Given the description of an element on the screen output the (x, y) to click on. 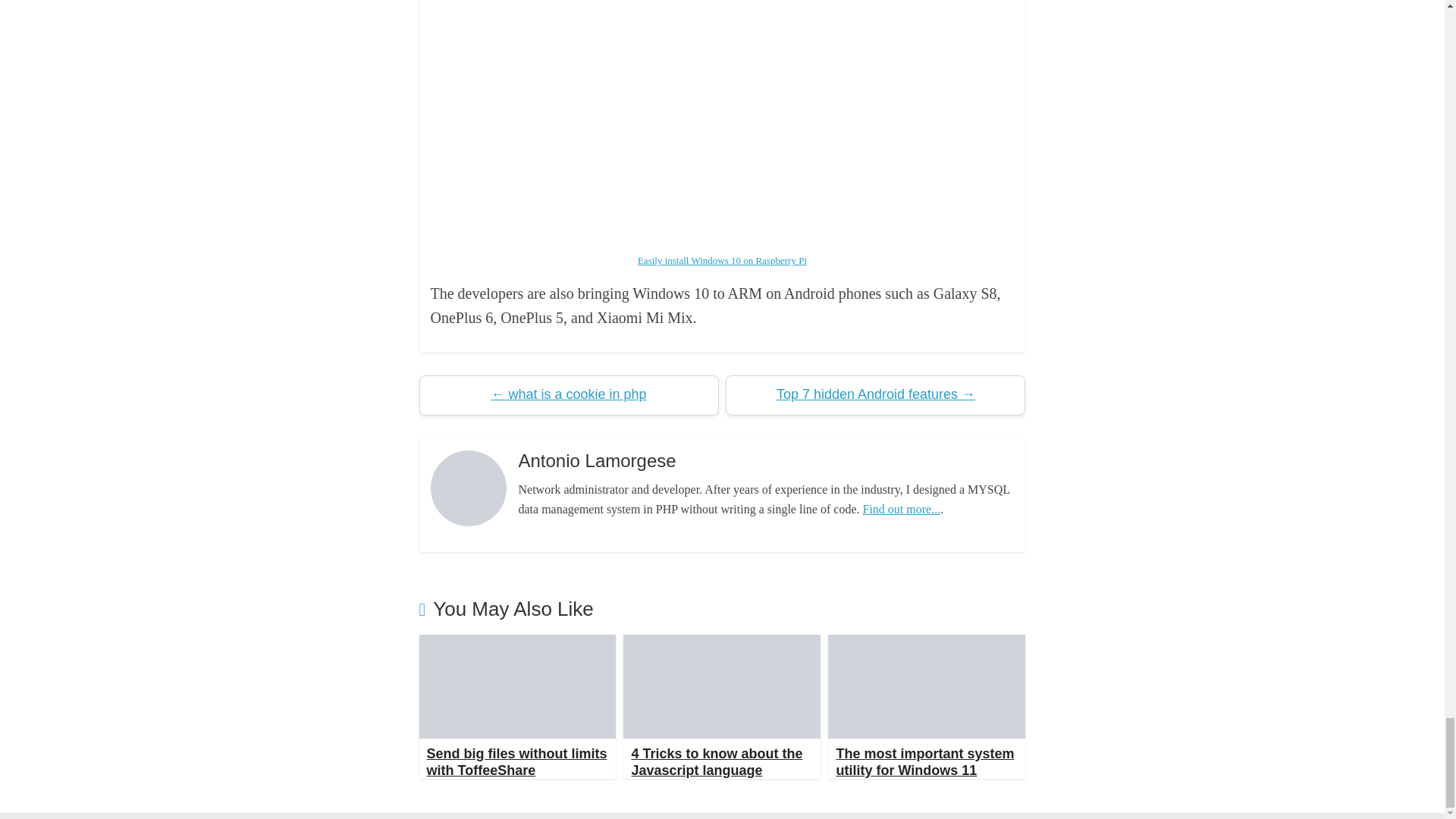
Send big files without limits with ToffeeShare (517, 644)
Send big files without limits with ToffeeShare (516, 762)
